Given the description of an element on the screen output the (x, y) to click on. 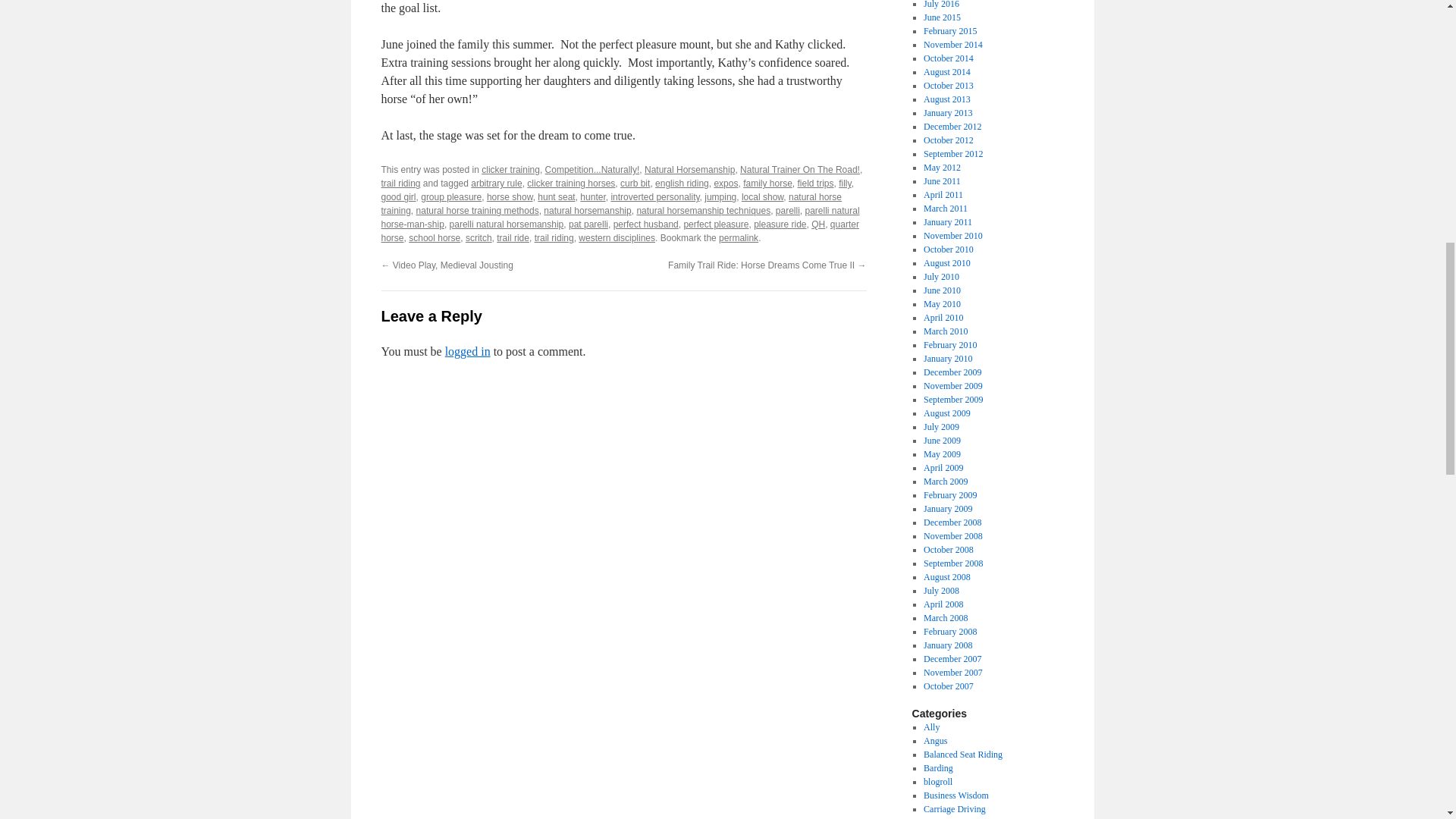
english riding (682, 183)
clicker training horses (570, 183)
Permalink to Horse Dreams Come True (738, 237)
good girl (397, 196)
Natural Trainer On The Road! (799, 169)
Competition...Naturally! (592, 169)
Natural Horsemanship (690, 169)
hunt seat (556, 196)
group pleasure (450, 196)
horse show (509, 196)
clicker training (510, 169)
trail riding (400, 183)
arbitrary rule (495, 183)
expos (725, 183)
curb bit (634, 183)
